Given the description of an element on the screen output the (x, y) to click on. 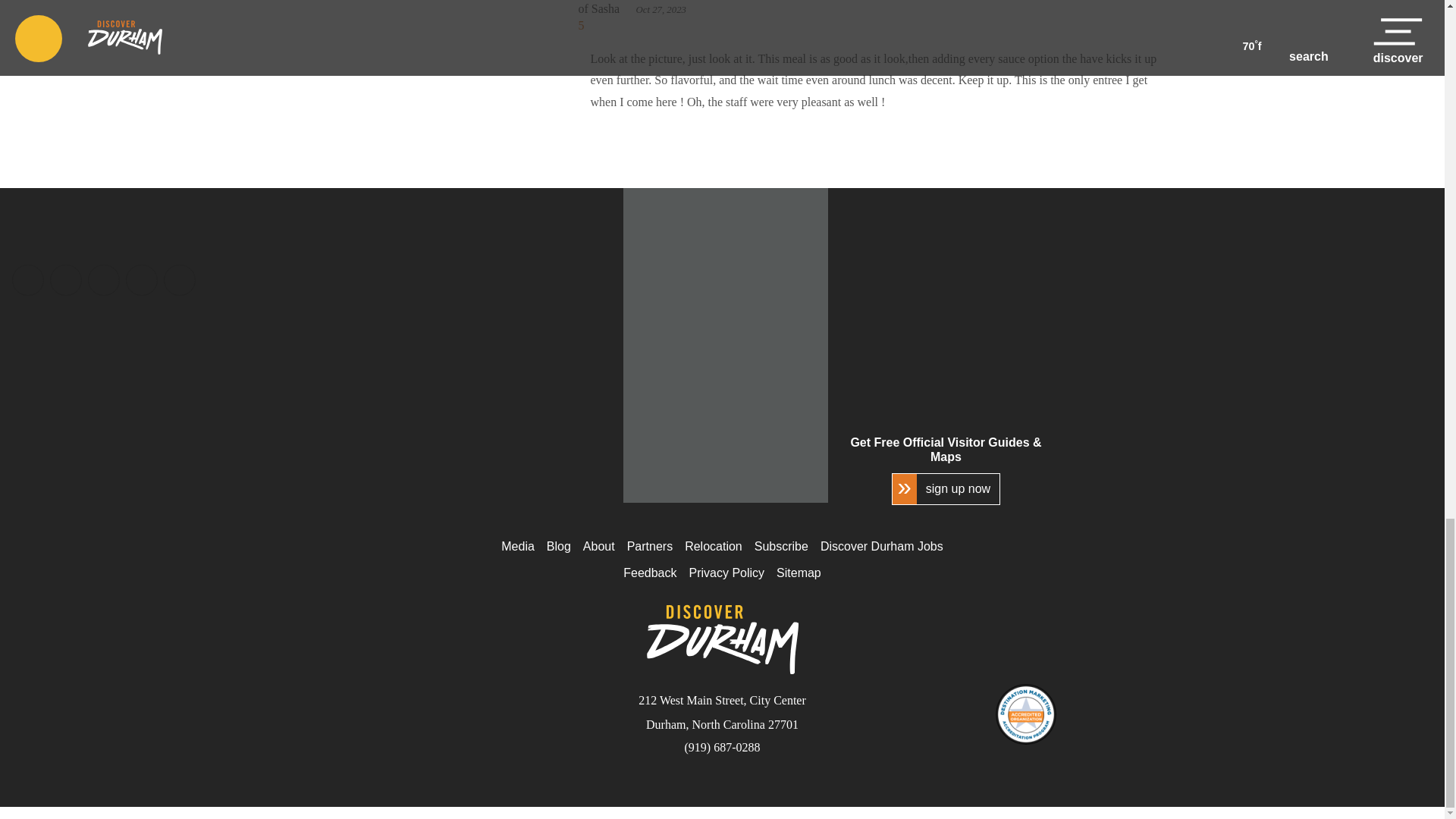
Facebook (27, 280)
